Given the description of an element on the screen output the (x, y) to click on. 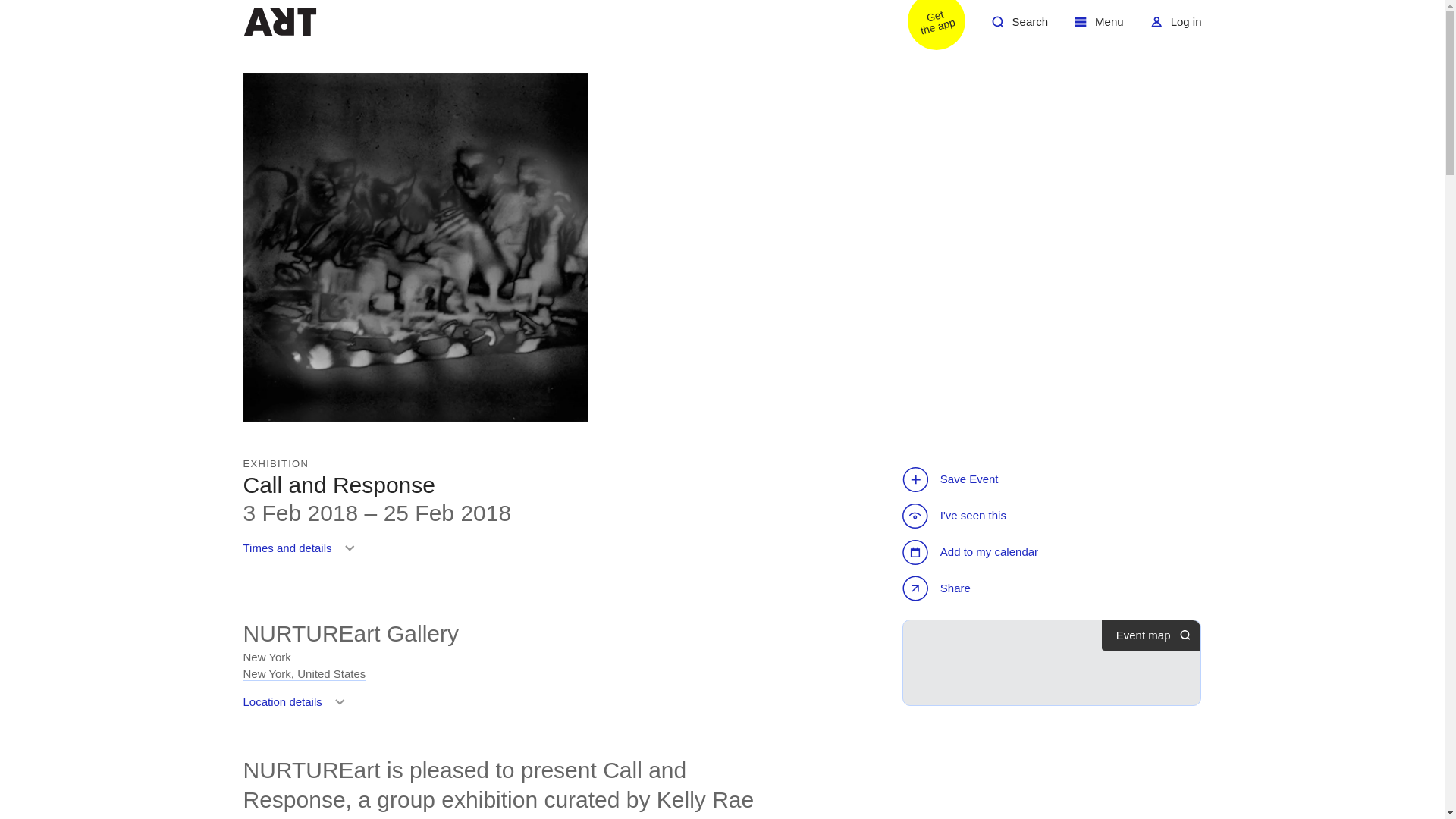
NURTUREart Gallery (926, 27)
Add to my calendar (1019, 26)
Welcome to ArtRabbit (297, 707)
Share (302, 553)
